Given the description of an element on the screen output the (x, y) to click on. 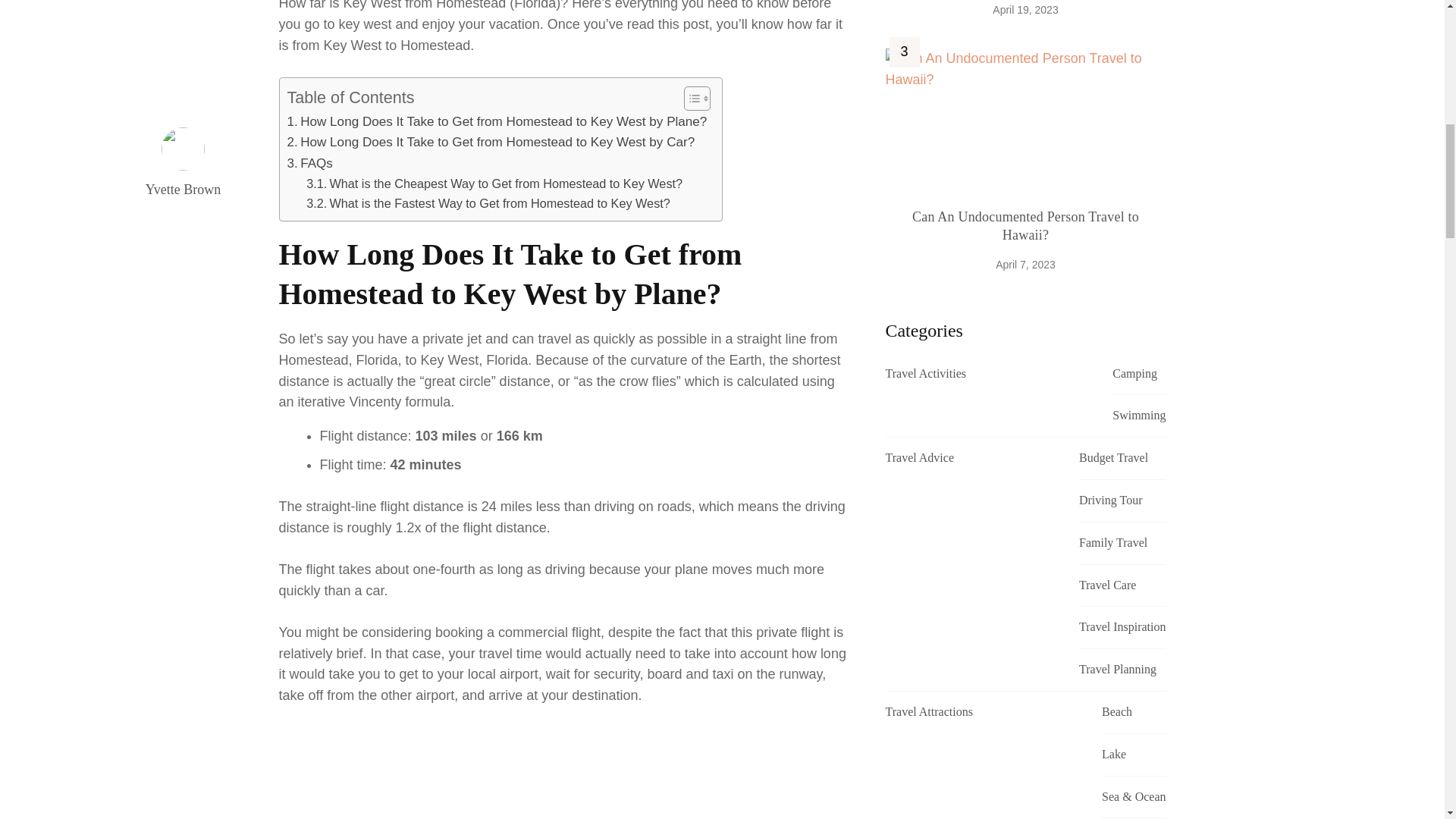
What is the Fastest Way to Get from Homestead to Key West? (487, 202)
What is the Cheapest Way to Get from Homestead to Key West? (493, 183)
FAQs (308, 163)
